Given the description of an element on the screen output the (x, y) to click on. 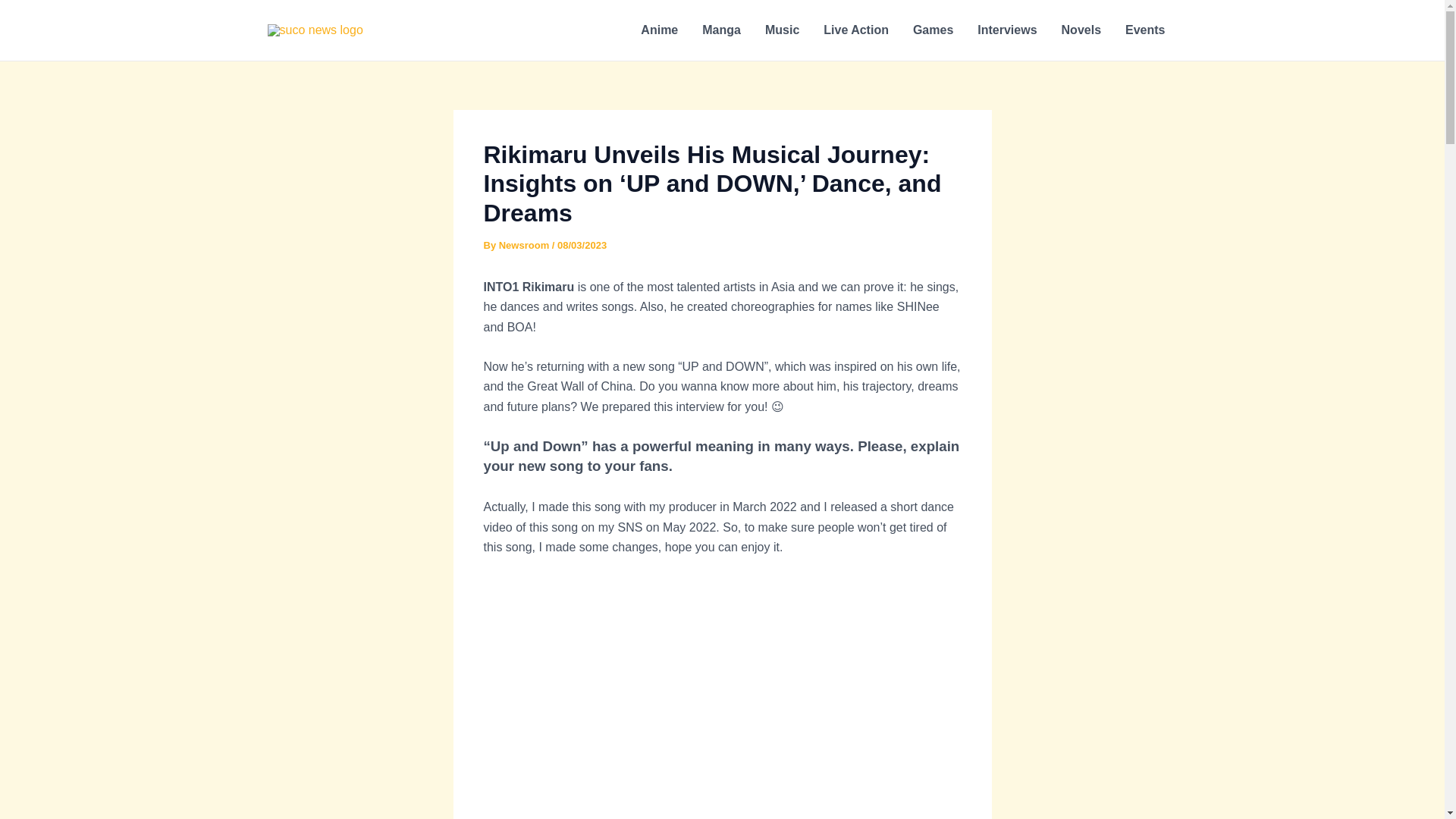
Newsroom (525, 244)
Novels (1081, 30)
Anime (659, 30)
Live Action (855, 30)
Events (1144, 30)
View all posts by Newsroom (525, 244)
Interviews (1006, 30)
Games (933, 30)
Manga (721, 30)
Music (781, 30)
